Given the description of an element on the screen output the (x, y) to click on. 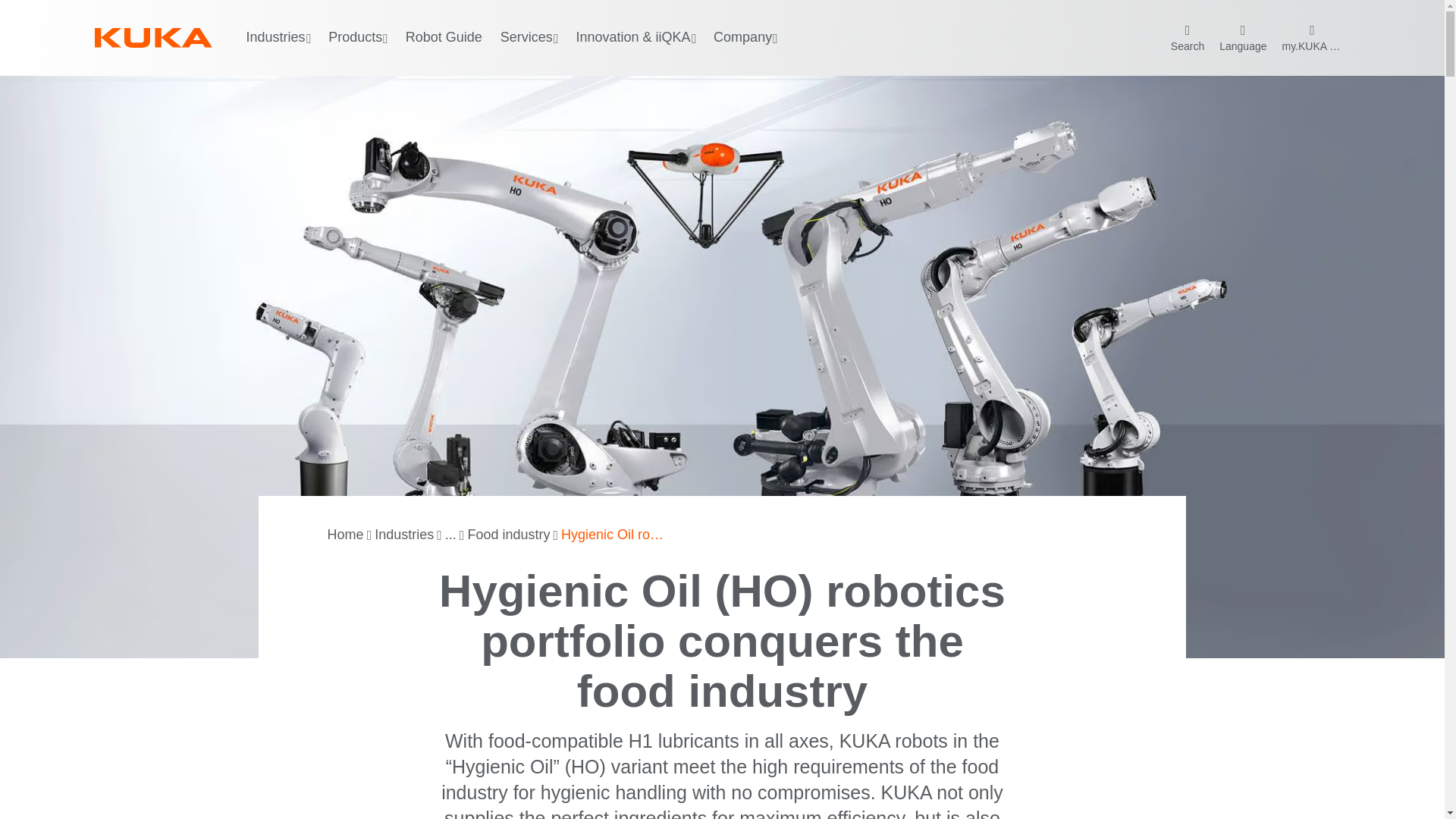
Food industry (508, 535)
Industries (403, 535)
Home (345, 535)
Hygienic Oil robots (614, 535)
